Given the description of an element on the screen output the (x, y) to click on. 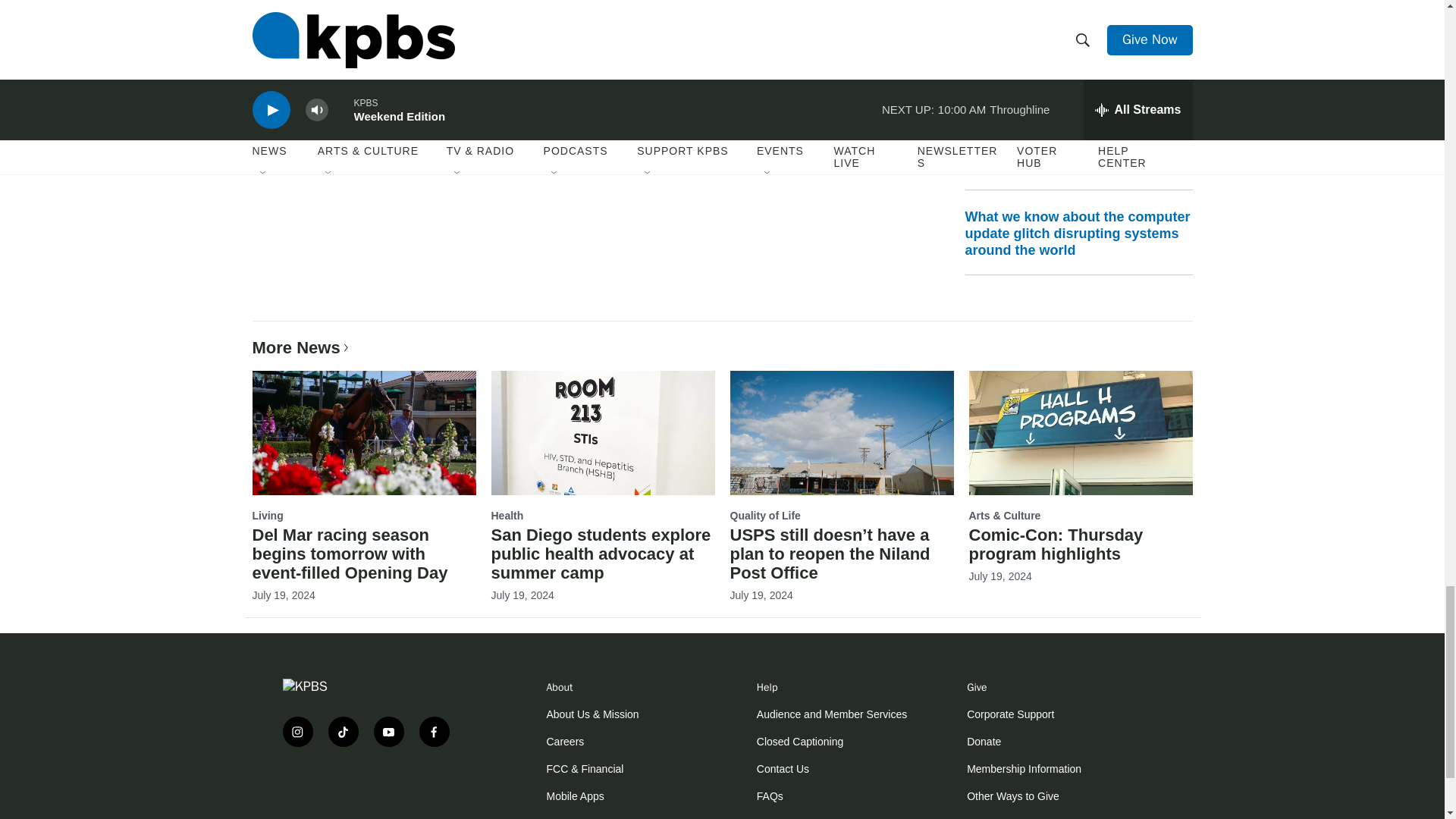
3rd party ad content (373, 801)
